Given the description of an element on the screen output the (x, y) to click on. 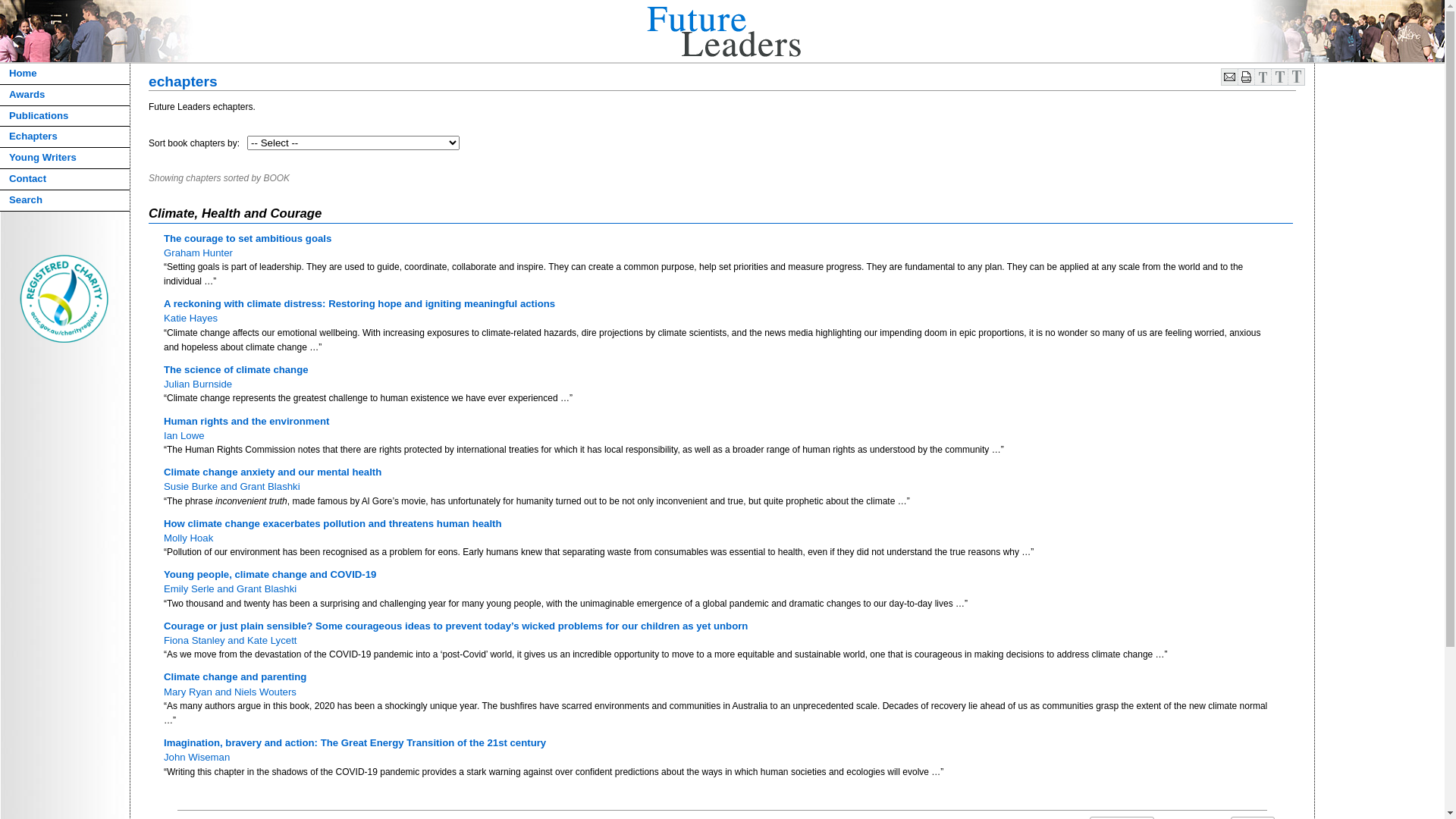
Change text to large Element type: hover (1296, 82)
Climate change and parenting
Mary Ryan and Niels Wouters Element type: text (234, 683)
Echapters Element type: text (64, 136)
The science of climate change
Julian Burnside Element type: text (235, 376)
Publications Element type: text (64, 116)
Human rights and the environment
Ian Lowe Element type: text (246, 428)
Search Element type: text (64, 200)
Change text to medium Element type: hover (1278, 82)
The courage to set ambitious goals
Graham Hunter Element type: text (247, 244)
Young Writers Element type: text (64, 158)
Change text to small (default) Element type: hover (1262, 82)
Home Element type: text (64, 73)
Printer friendly format Element type: hover (1245, 82)
Awards Element type: text (64, 95)
Contact Element type: text (64, 179)
